Given the description of an element on the screen output the (x, y) to click on. 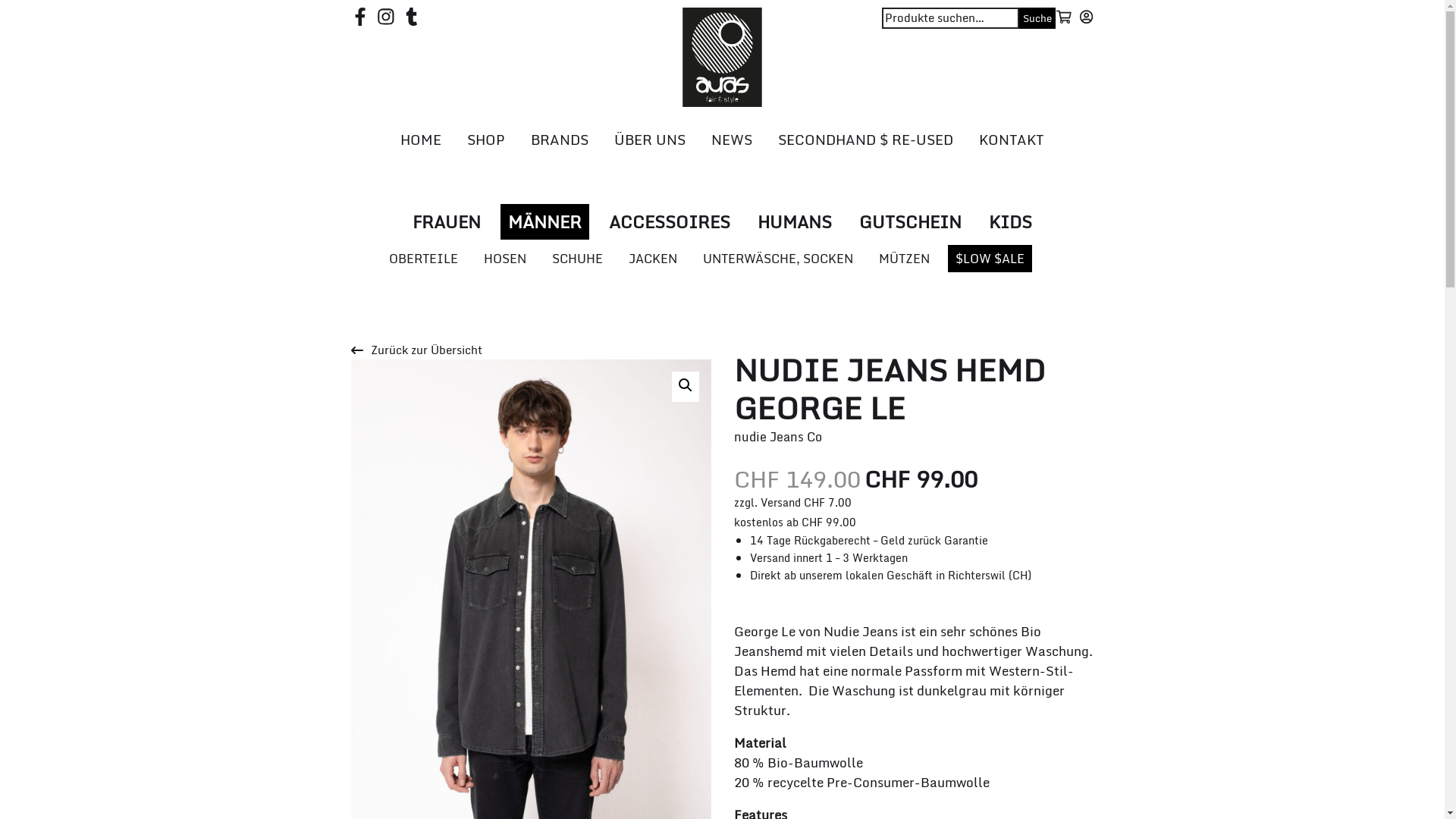
OBERTEILE Element type: text (422, 258)
GUTSCHEIN Element type: text (910, 221)
FRAUEN Element type: text (446, 221)
HOSEN Element type: text (504, 258)
KIDS Element type: text (1010, 221)
HOME Element type: text (420, 139)
JACKEN Element type: text (652, 258)
SECONDHAND $ RE-USED Element type: text (865, 139)
SCHUHE Element type: text (577, 258)
KONTAKT Element type: text (1011, 139)
$LOW $ALE Element type: text (989, 258)
Suche Element type: text (1037, 17)
NEWS Element type: text (731, 139)
BRANDS Element type: text (559, 139)
ACCESSOIRES Element type: text (669, 221)
HUMANS Element type: text (794, 221)
SHOP Element type: text (485, 139)
